Given the description of an element on the screen output the (x, y) to click on. 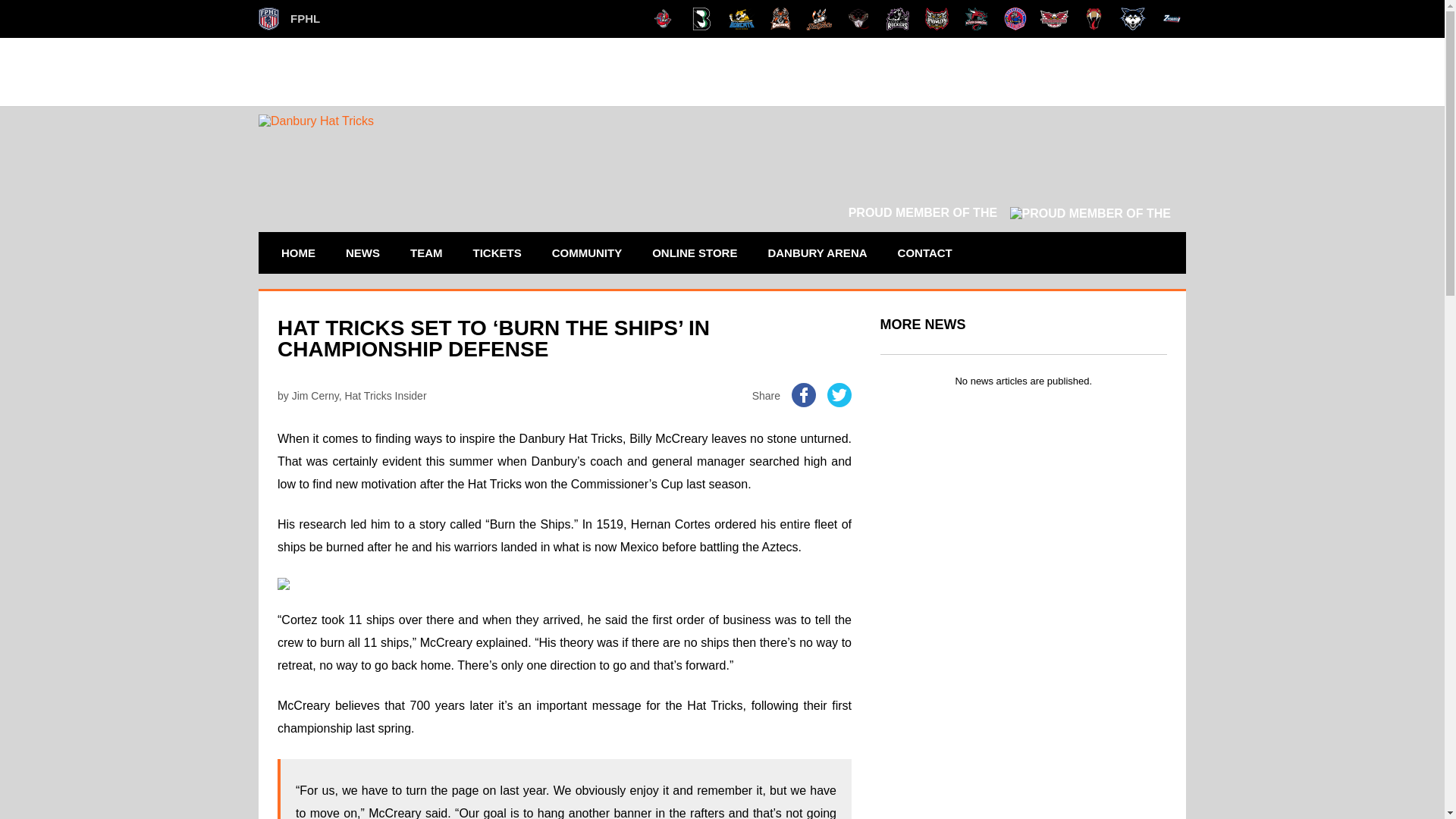
FPHL (289, 18)
PROUD MEMBER OF THE (1009, 212)
NEWS (362, 252)
HOME (297, 252)
